Given the description of an element on the screen output the (x, y) to click on. 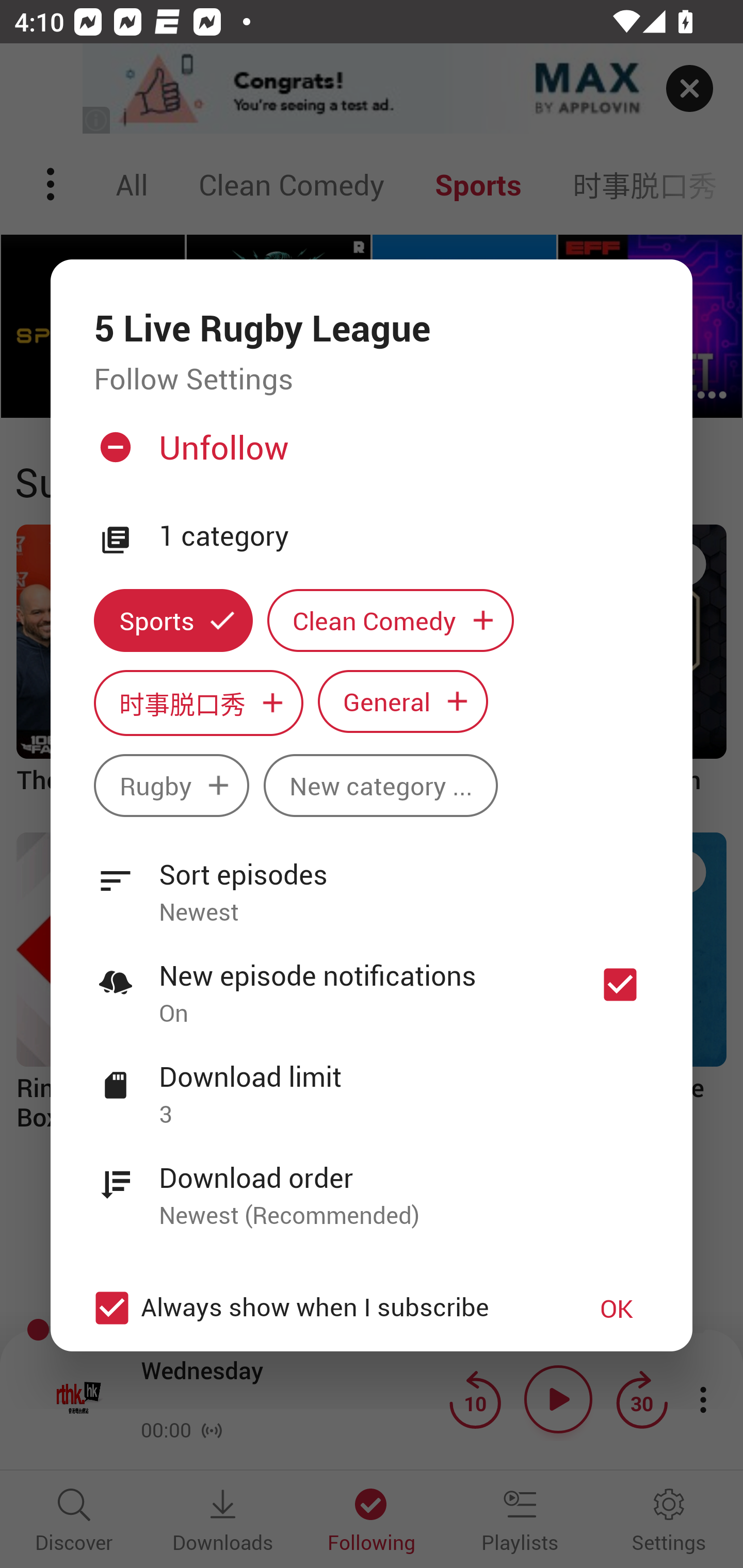
Unfollow (369, 454)
1 category (404, 535)
Sports (172, 620)
Clean Comedy (390, 620)
时事脱口秀 (198, 702)
General (403, 700)
Rugby (170, 785)
New category ... (380, 785)
Sort episodes Newest (371, 881)
New episode notifications (620, 984)
Download limit 3 (371, 1084)
Download order Newest (Recommended) (371, 1185)
OK (616, 1308)
Always show when I subscribe (320, 1308)
